Given the description of an element on the screen output the (x, y) to click on. 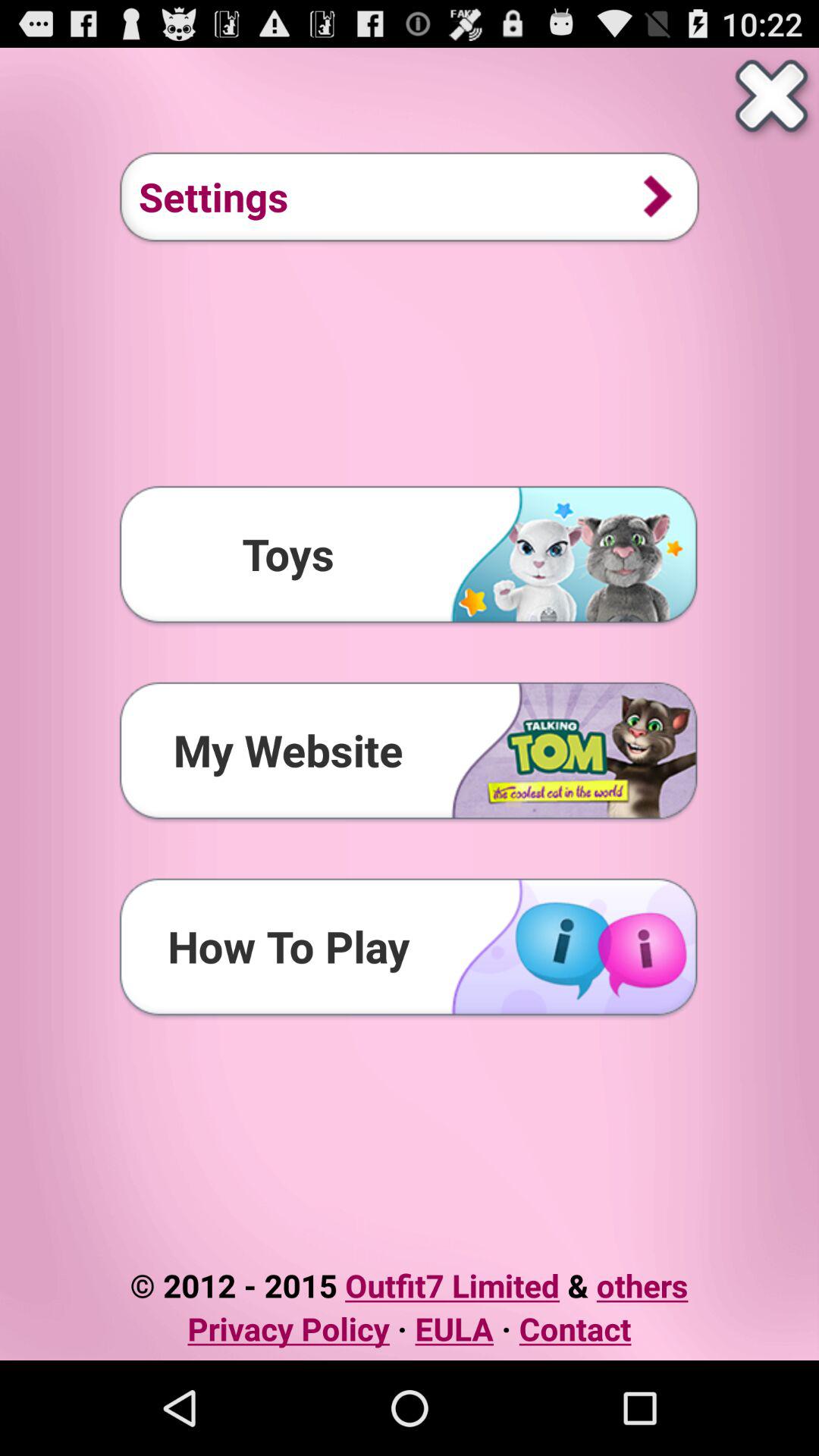
turn off the item below how to play icon (409, 1284)
